Given the description of an element on the screen output the (x, y) to click on. 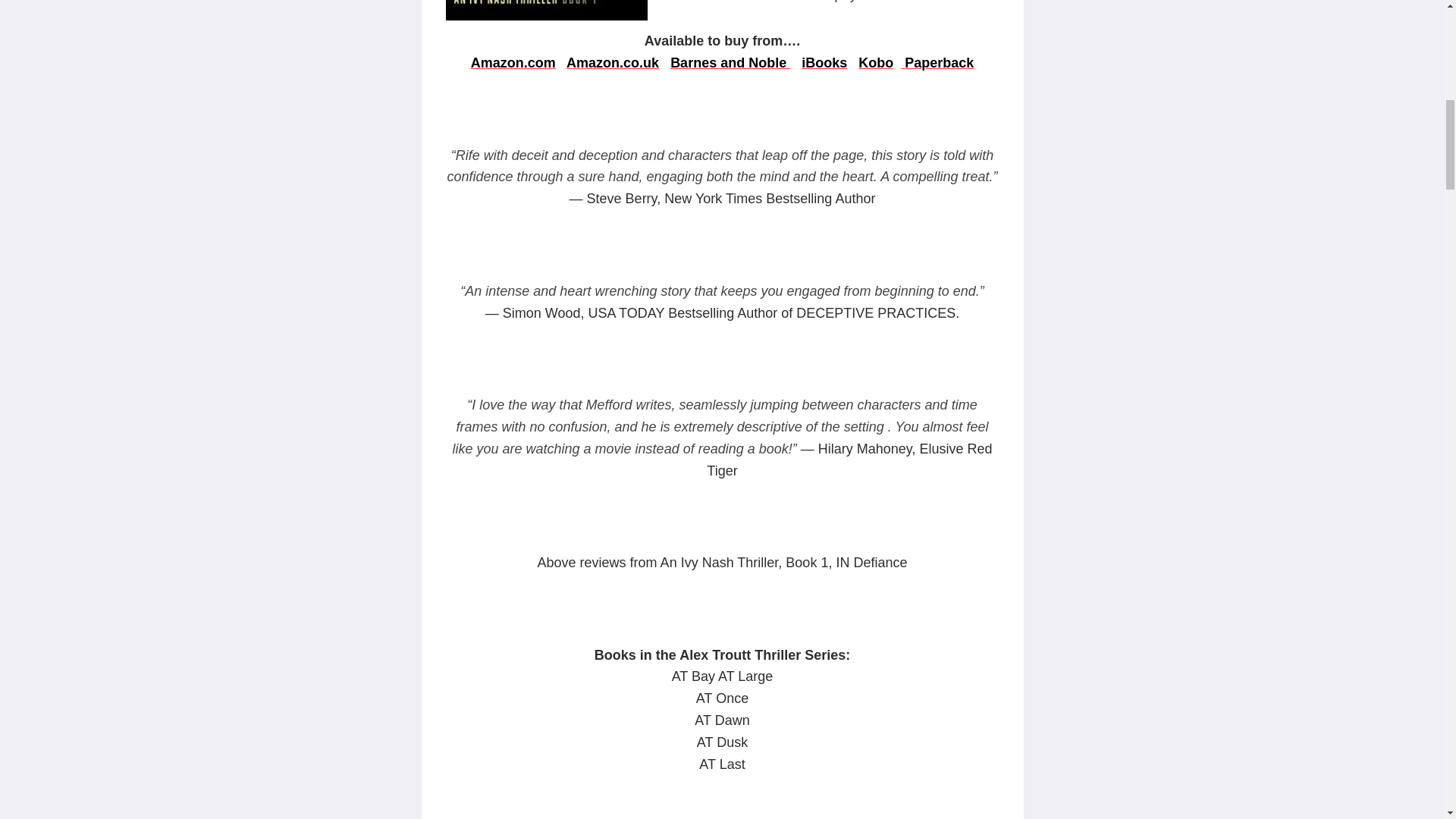
Kobo (876, 62)
iBooks (824, 62)
 Paperback (937, 62)
Amazon.com (513, 62)
Barnes and Noble (729, 62)
Amazon.co.uk (612, 62)
